Given the description of an element on the screen output the (x, y) to click on. 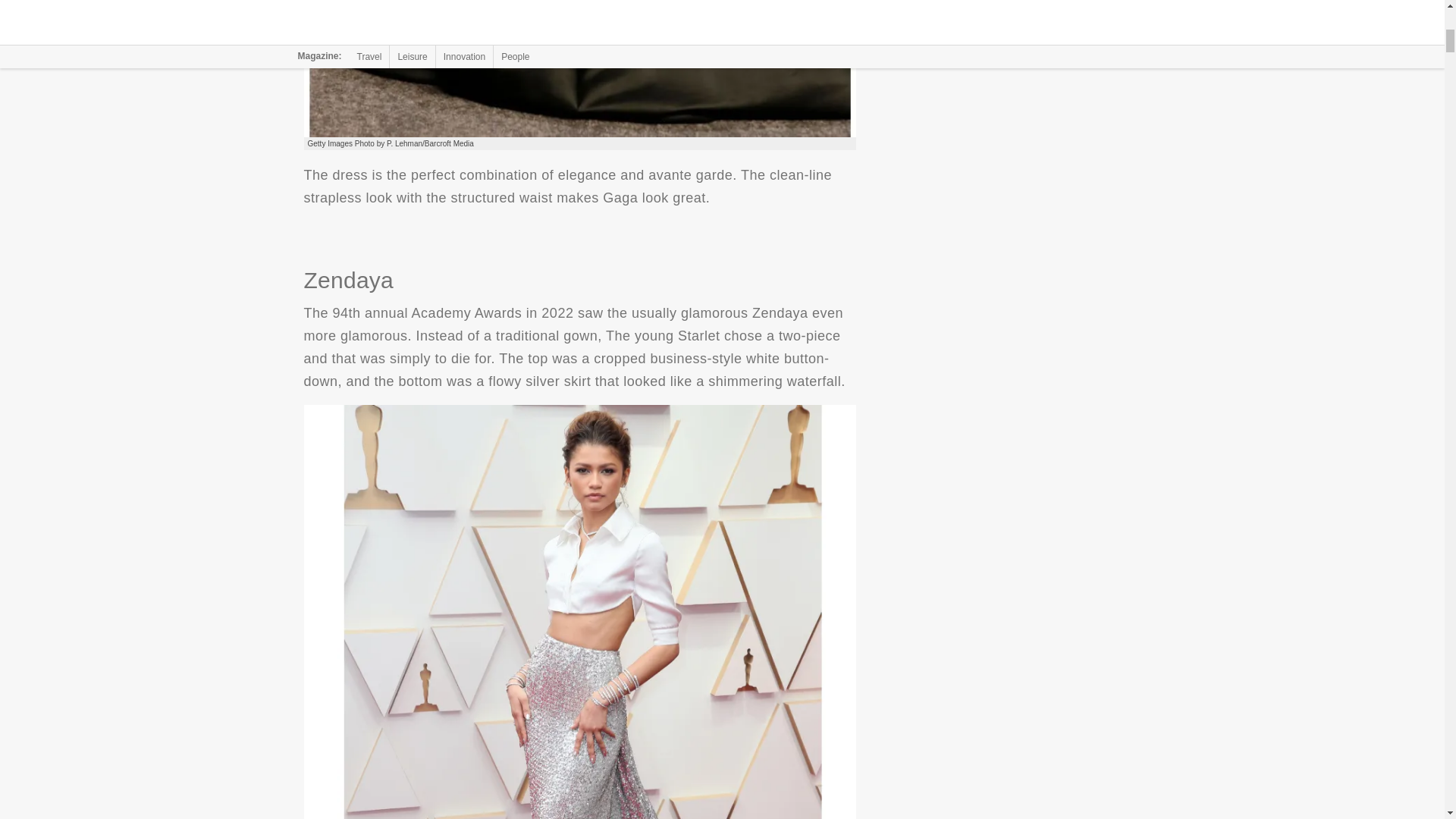
Lady Gaga (579, 68)
